Given the description of an element on the screen output the (x, y) to click on. 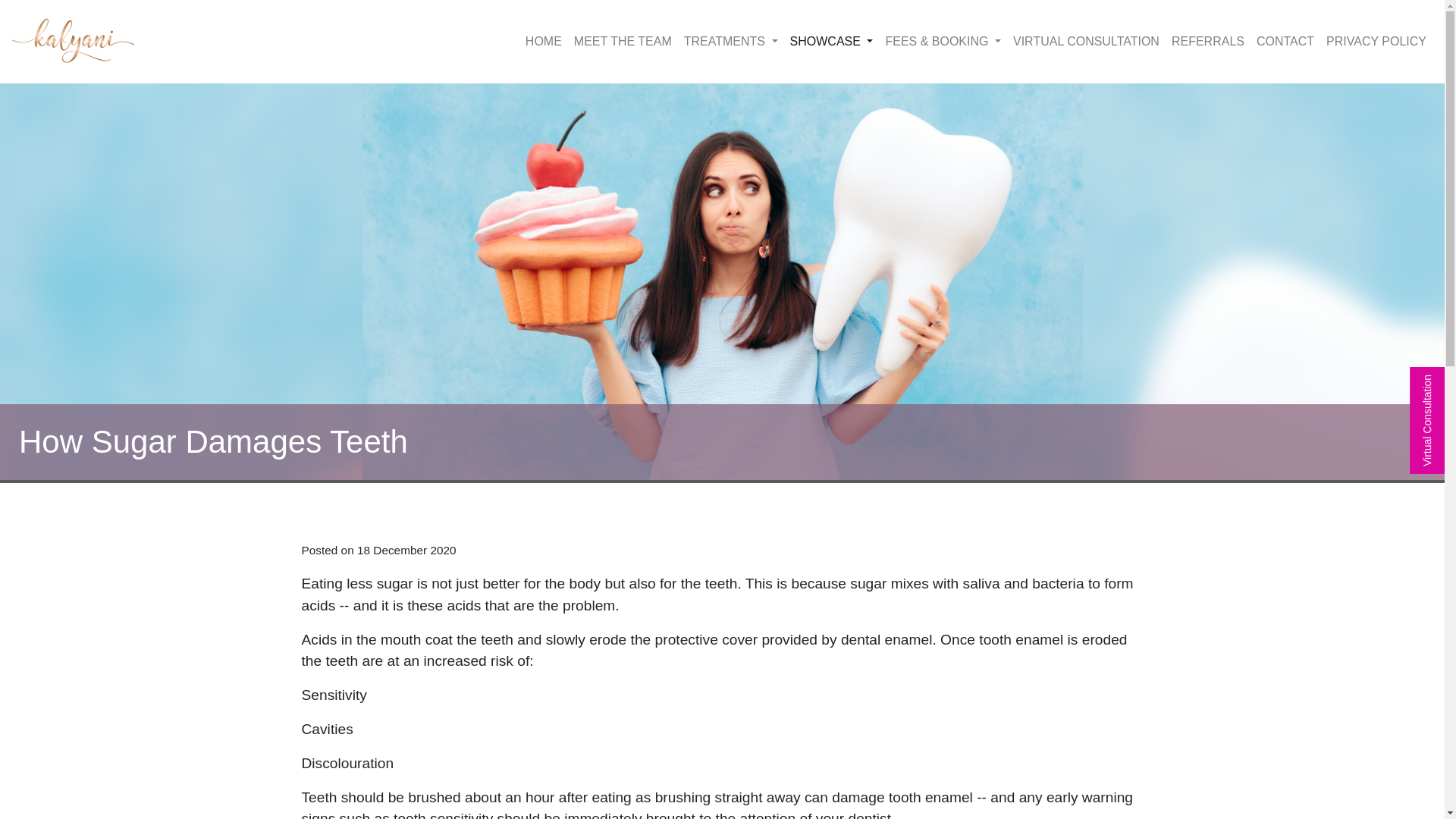
MEET THE TEAM (622, 41)
SHOWCASE (831, 41)
REFERRALS (1208, 41)
VIRTUAL CONSULTATION (1086, 41)
PRIVACY POLICY (1376, 41)
CONTACT (1285, 41)
TREATMENTS (731, 41)
HOME (543, 41)
